Given the description of an element on the screen output the (x, y) to click on. 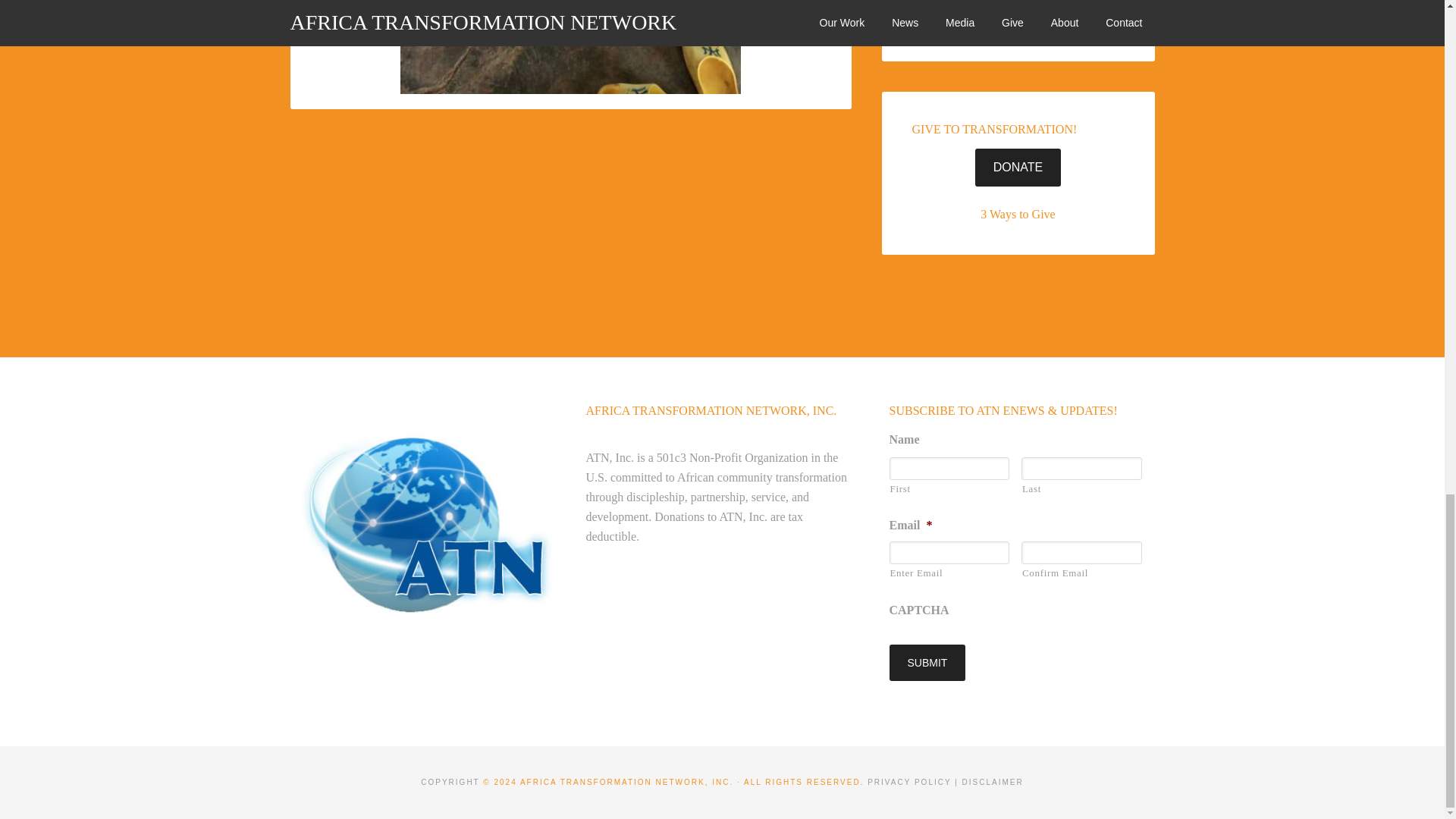
DONATE (1018, 167)
Submit (926, 662)
3 Ways to Give (1016, 214)
DISCLAIMER (992, 782)
Submit (926, 662)
COPYRIGHT (449, 782)
